Given the description of an element on the screen output the (x, y) to click on. 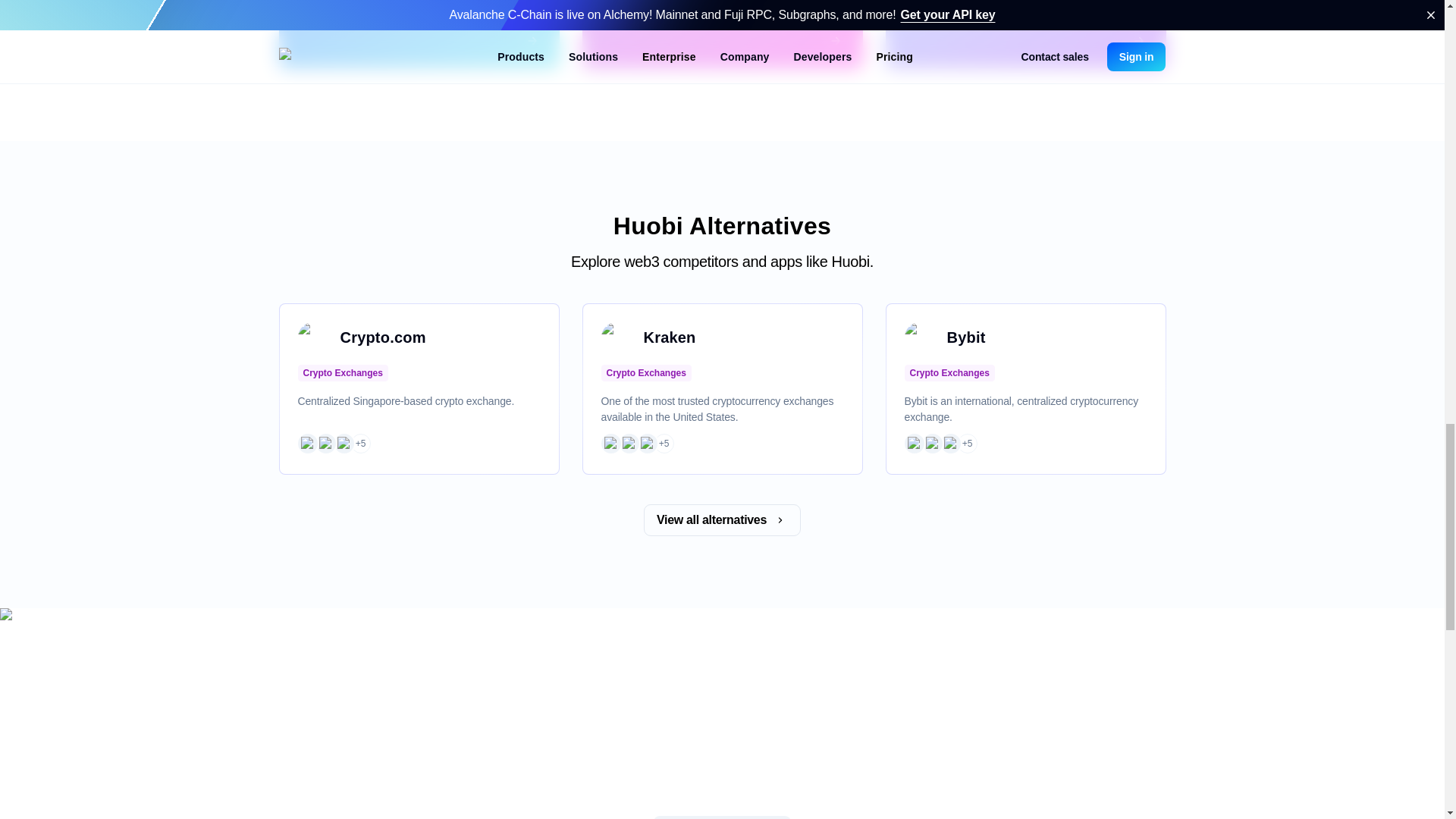
Ethereum (913, 443)
Arbitrum (627, 443)
Arbitrum (324, 443)
Ethereum (306, 443)
Arbitrum (931, 443)
Optimism (949, 443)
Optimism (343, 443)
Ethereum (610, 443)
Optimism (646, 443)
